Given the description of an element on the screen output the (x, y) to click on. 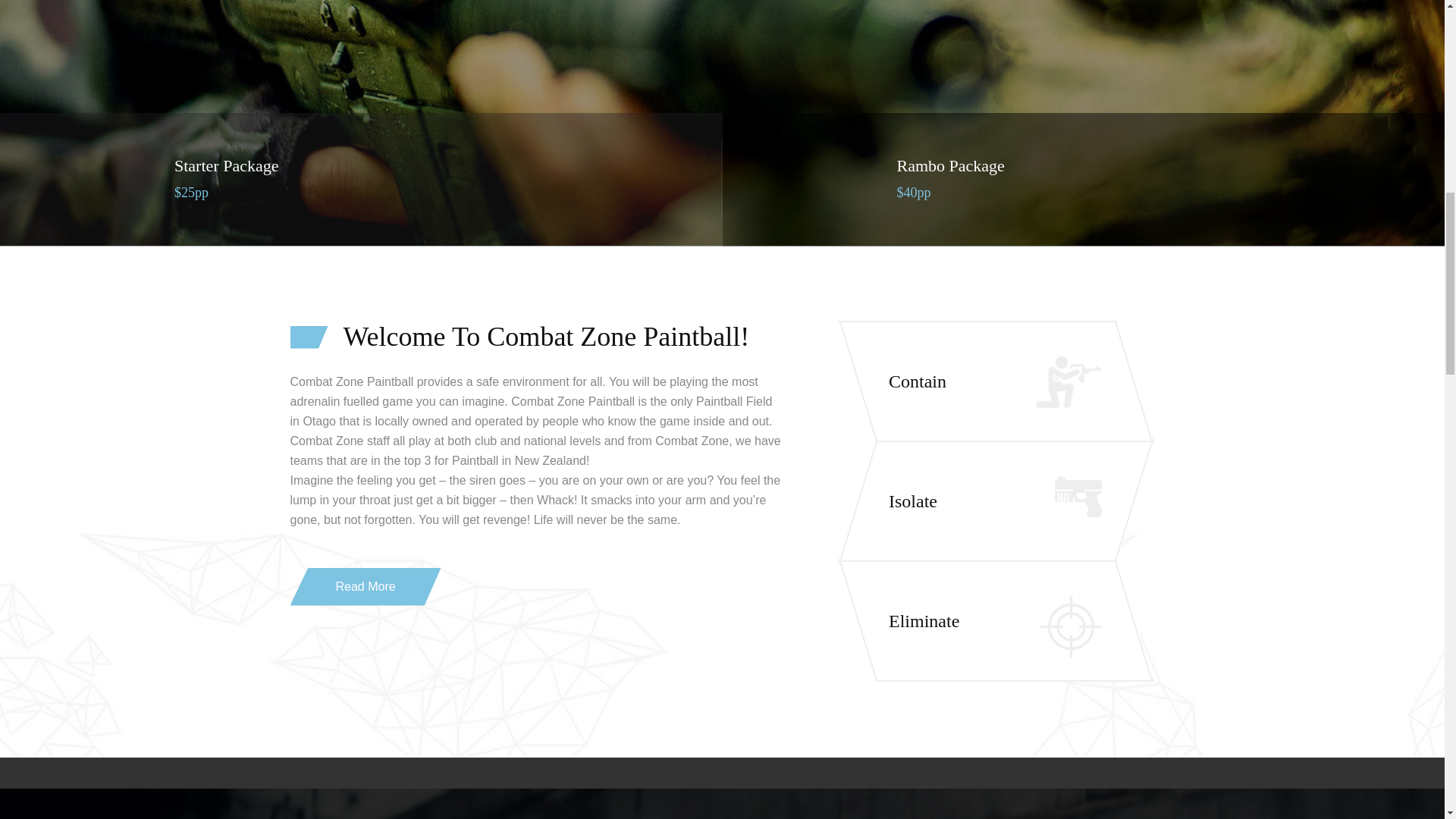
Read More (365, 587)
